Given the description of an element on the screen output the (x, y) to click on. 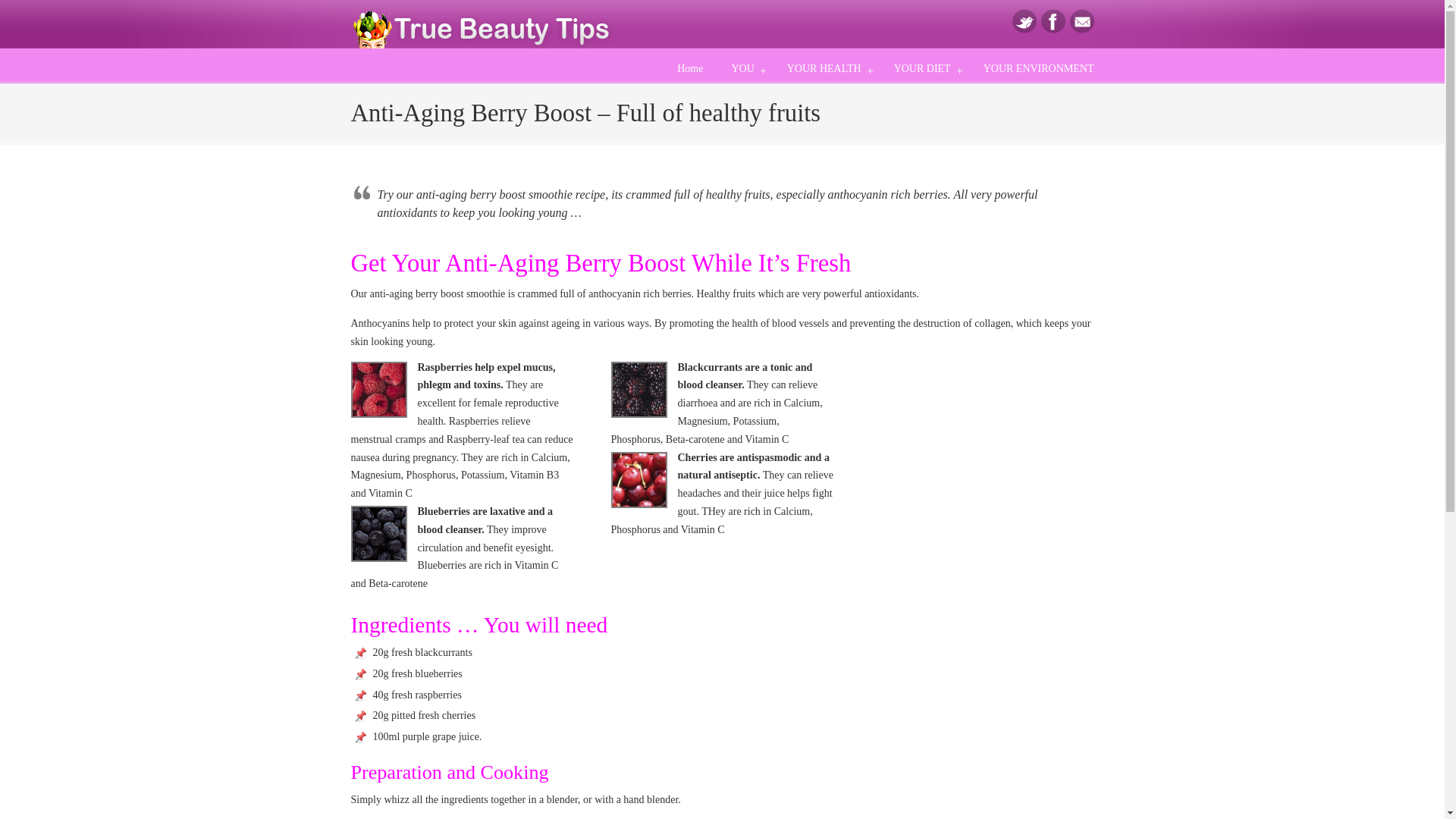
Anti-Aging Berry Boost (378, 389)
YOUR HEALTH (825, 69)
YOU (744, 69)
Twitter (1023, 30)
True Beauty Tips (482, 26)
Anti-Aging Berry Boost (638, 479)
Anti-Aging Berry Boost (378, 533)
YOUR DIET (925, 69)
Facebook (1052, 30)
YOUR ENVIRONMENT (1038, 69)
